Given the description of an element on the screen output the (x, y) to click on. 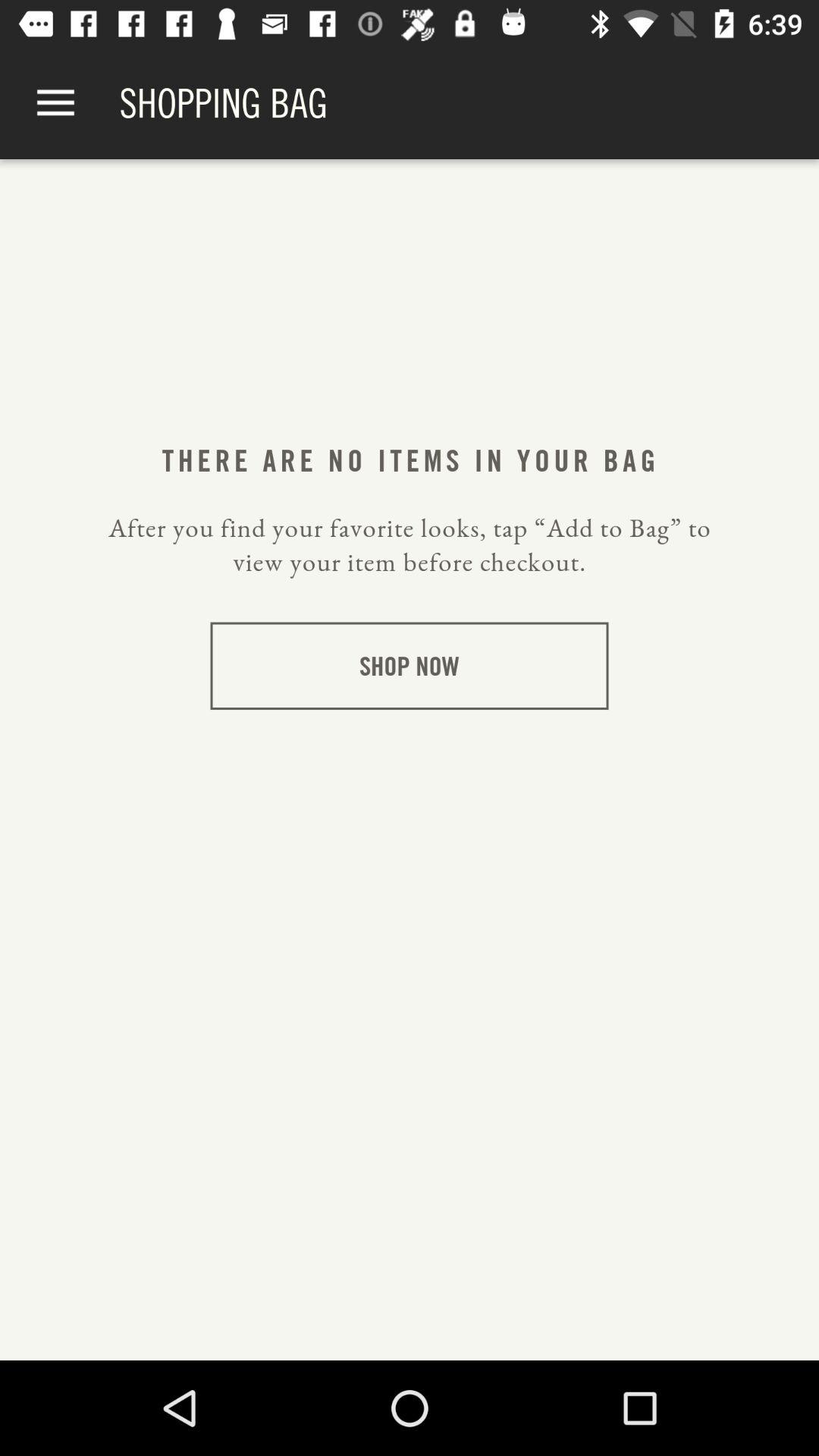
flip until the after you find icon (409, 544)
